Given the description of an element on the screen output the (x, y) to click on. 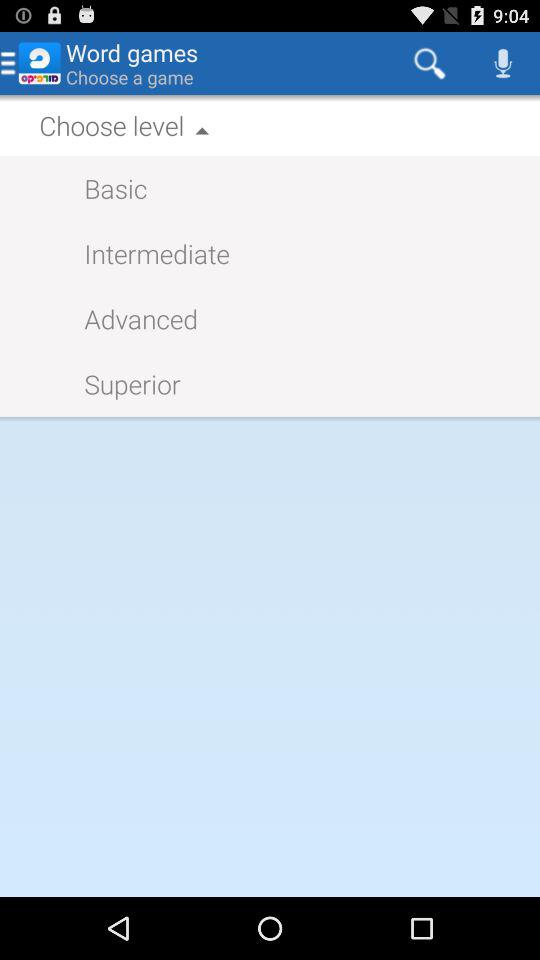
swipe to superior icon (122, 383)
